Given the description of an element on the screen output the (x, y) to click on. 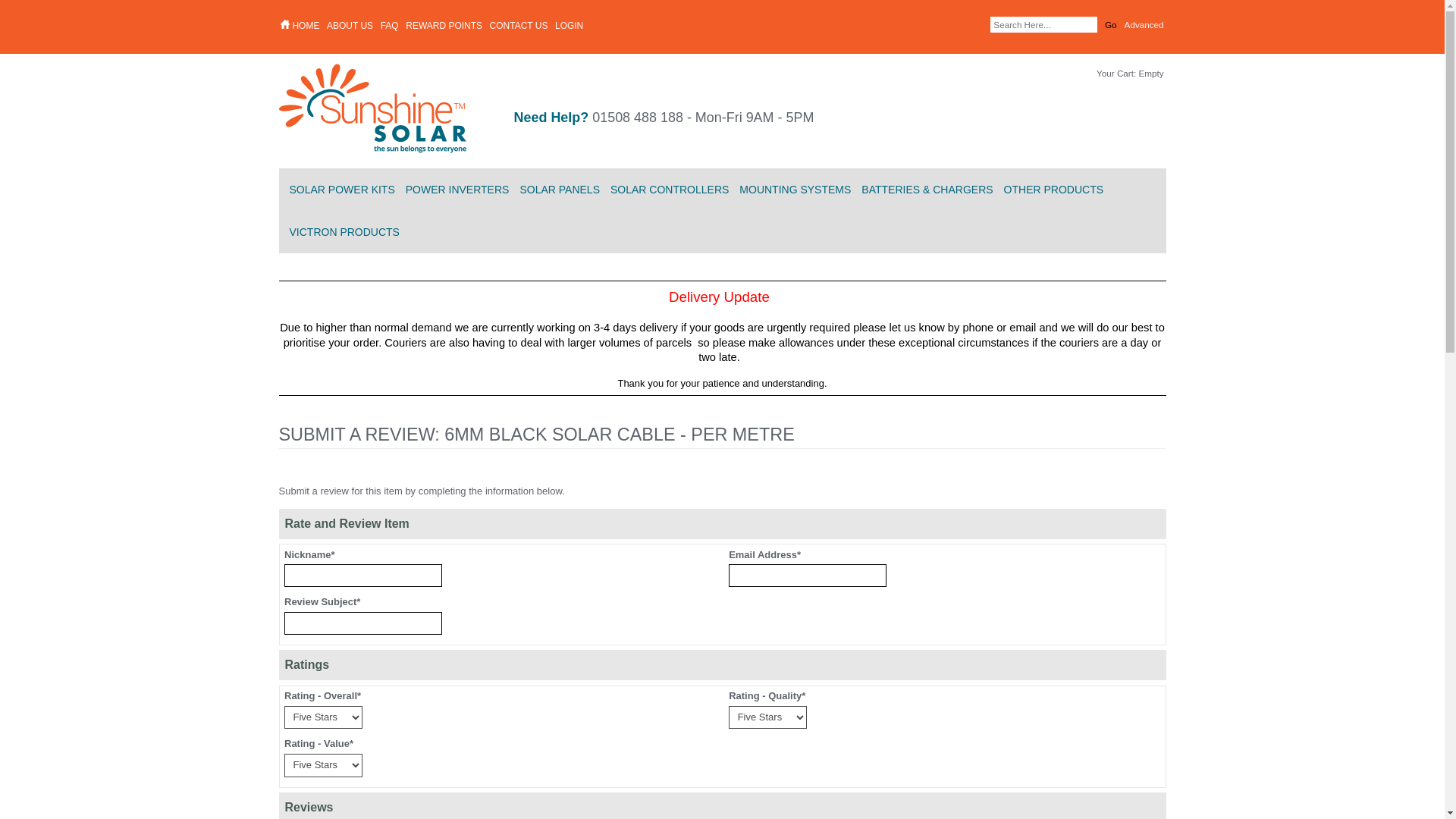
Rating - Quality (767, 717)
Search (978, 25)
Search (978, 25)
ABOUT US (349, 25)
POWER INVERTERS (457, 189)
Your Cart (1084, 73)
HOME (300, 25)
Search (1043, 24)
SOLAR POWER KITS (340, 189)
Email Address (807, 575)
Nickname (362, 575)
Go (1110, 24)
Review Subject (362, 622)
Advanced (1143, 24)
FAQ (389, 25)
